Given the description of an element on the screen output the (x, y) to click on. 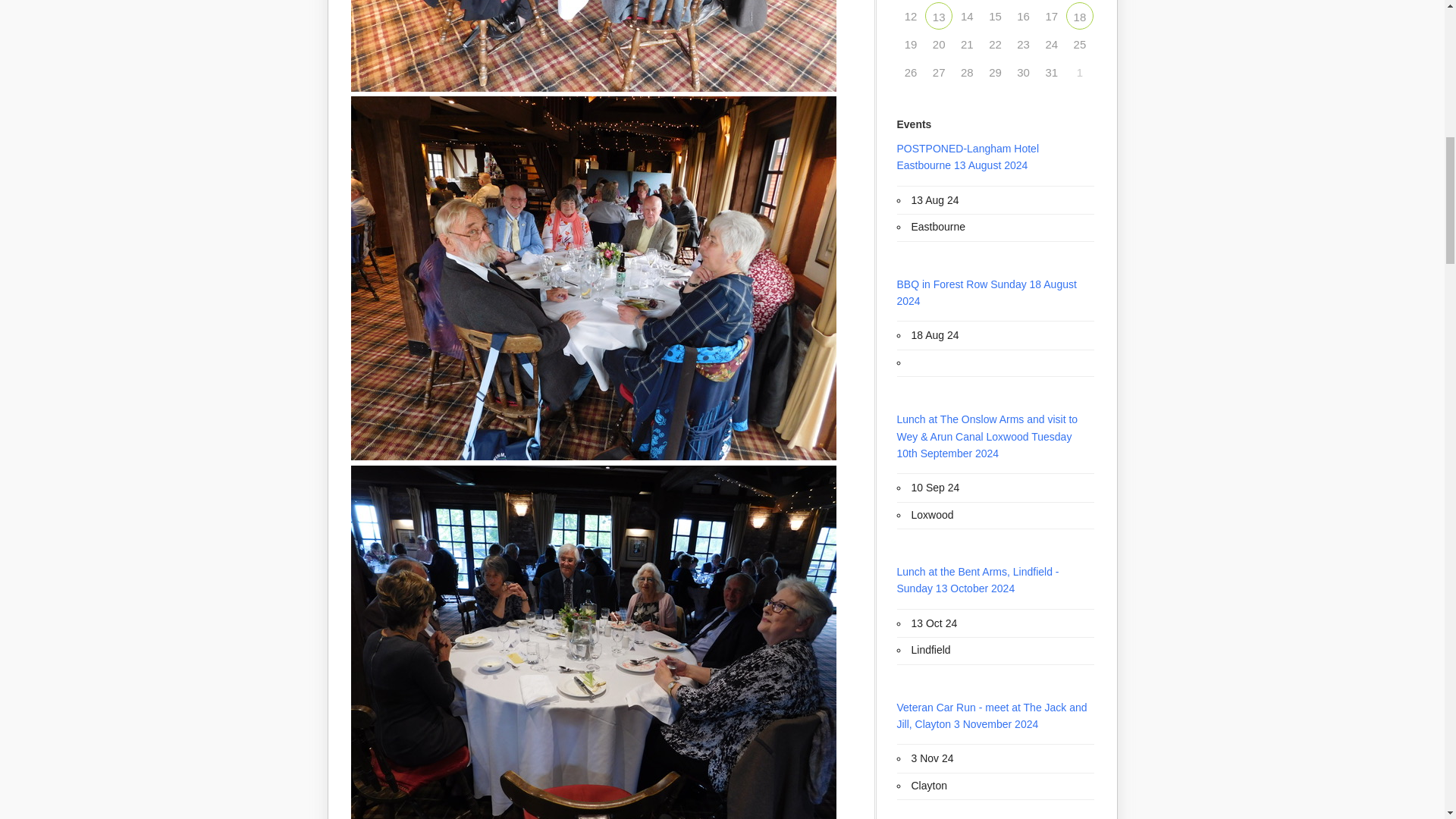
13 (938, 15)
POSTPONED-Langham Hotel Eastbourne 13 August 2024 (938, 15)
18 (1079, 15)
BBQ in Forest Row Sunday 18 August 2024 (1079, 15)
